Given the description of an element on the screen output the (x, y) to click on. 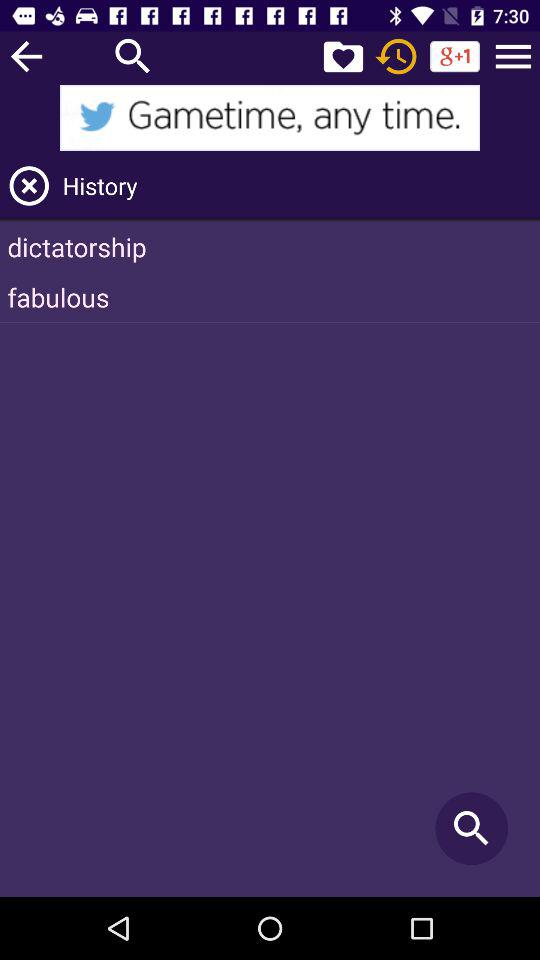
turn on the item below the dictatorship item (270, 297)
